Given the description of an element on the screen output the (x, y) to click on. 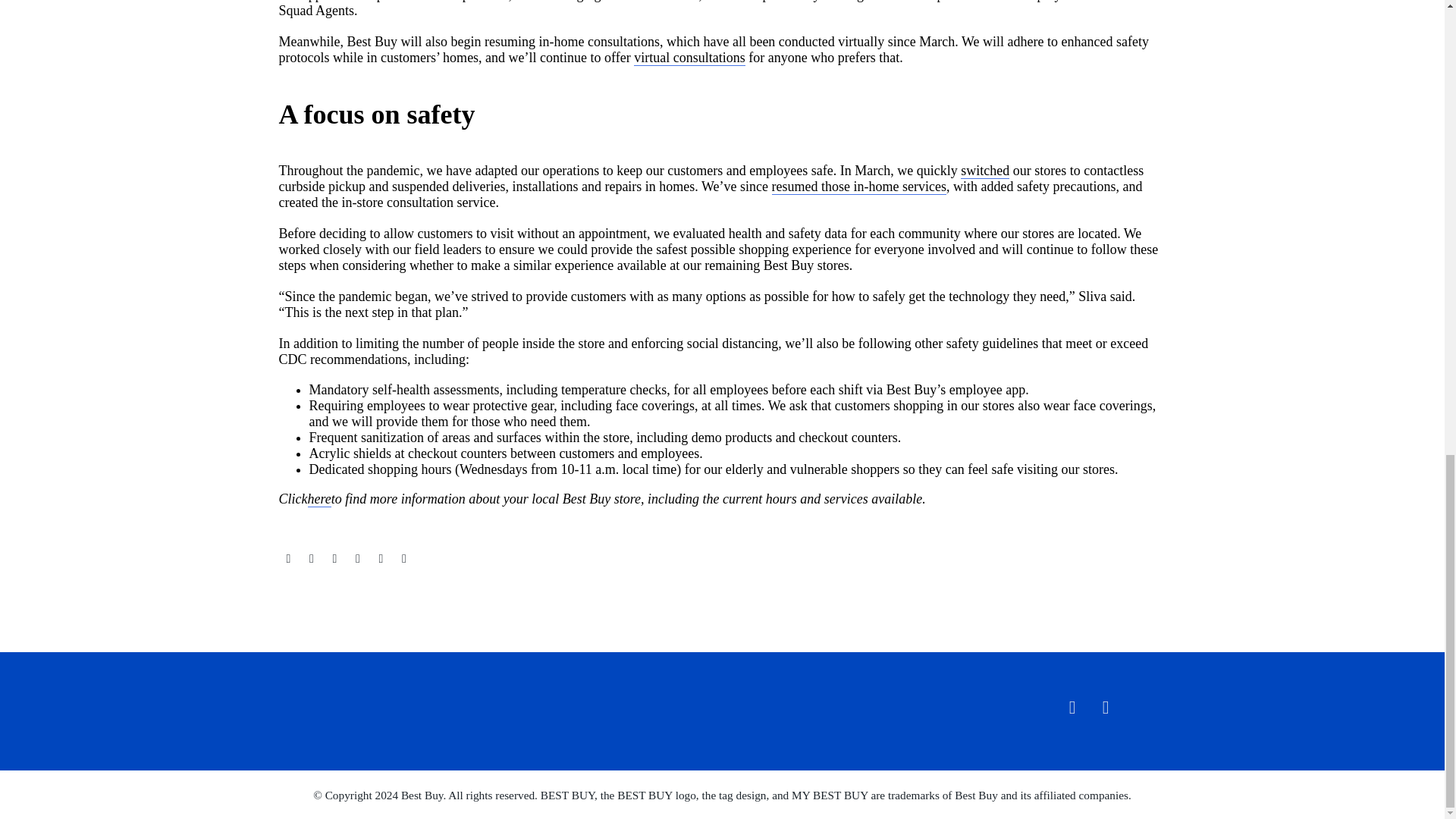
Pinterest (334, 558)
LinkedIn (380, 558)
Facebook (288, 558)
switched (984, 170)
here (319, 498)
virtual consultations (688, 57)
Reddit (403, 558)
resumed those in-home services (858, 186)
Tumblr (358, 558)
Twitter (311, 558)
